Given the description of an element on the screen output the (x, y) to click on. 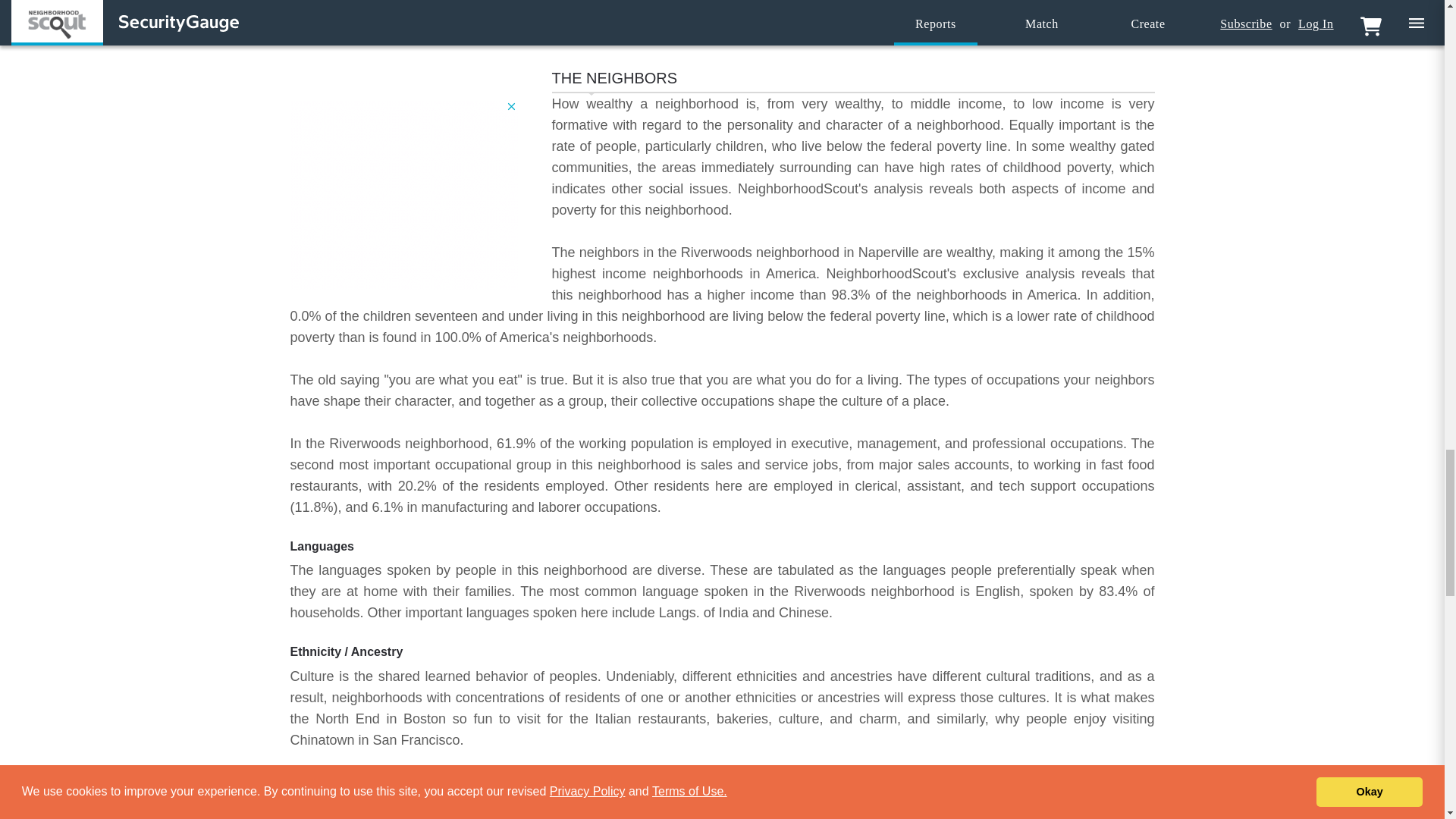
3rd party ad content (402, 194)
